Given the description of an element on the screen output the (x, y) to click on. 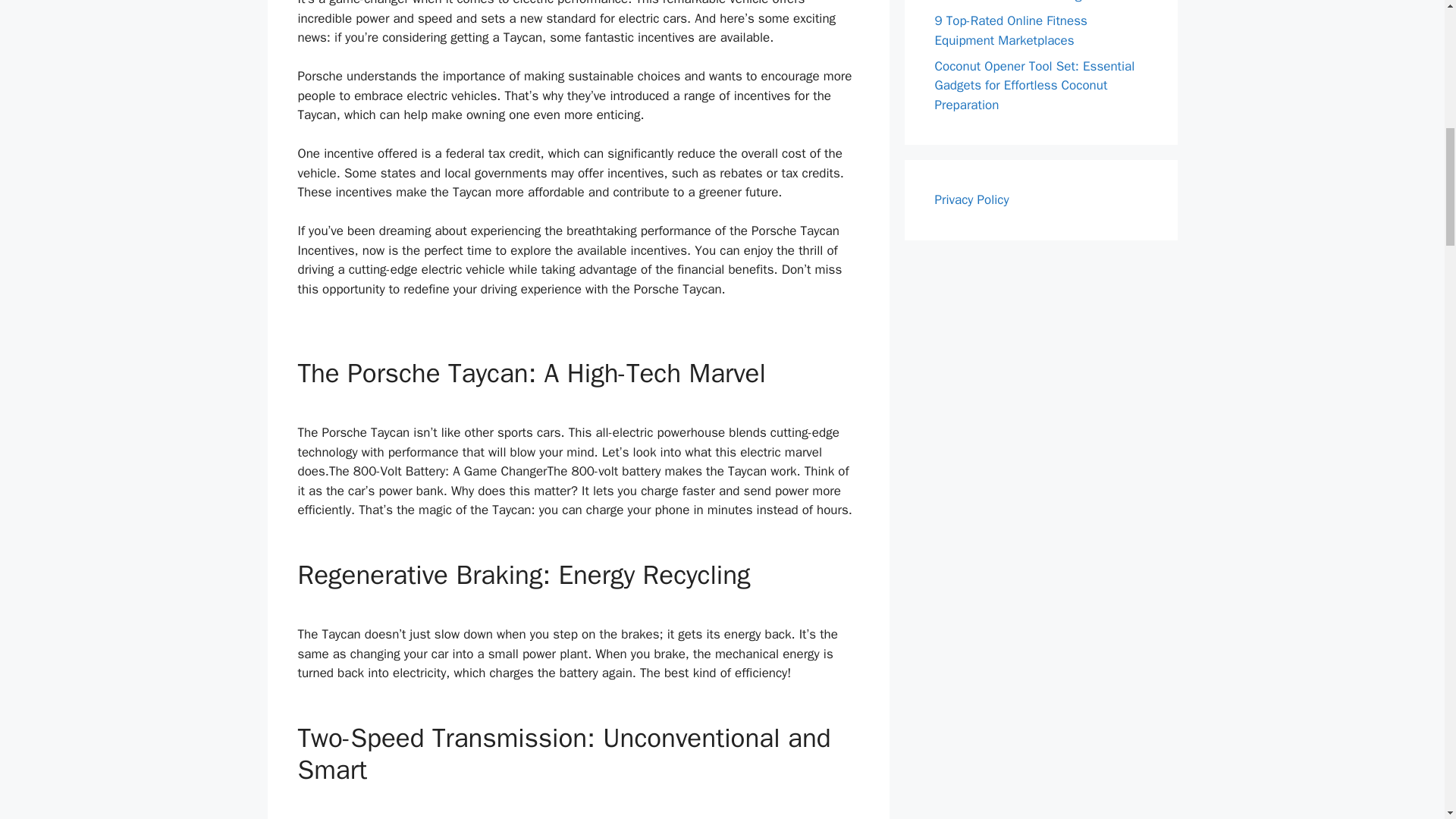
Privacy Policy (971, 199)
9 Top-Rated Online Fitness Equipment Marketplaces (1010, 30)
